Given the description of an element on the screen output the (x, y) to click on. 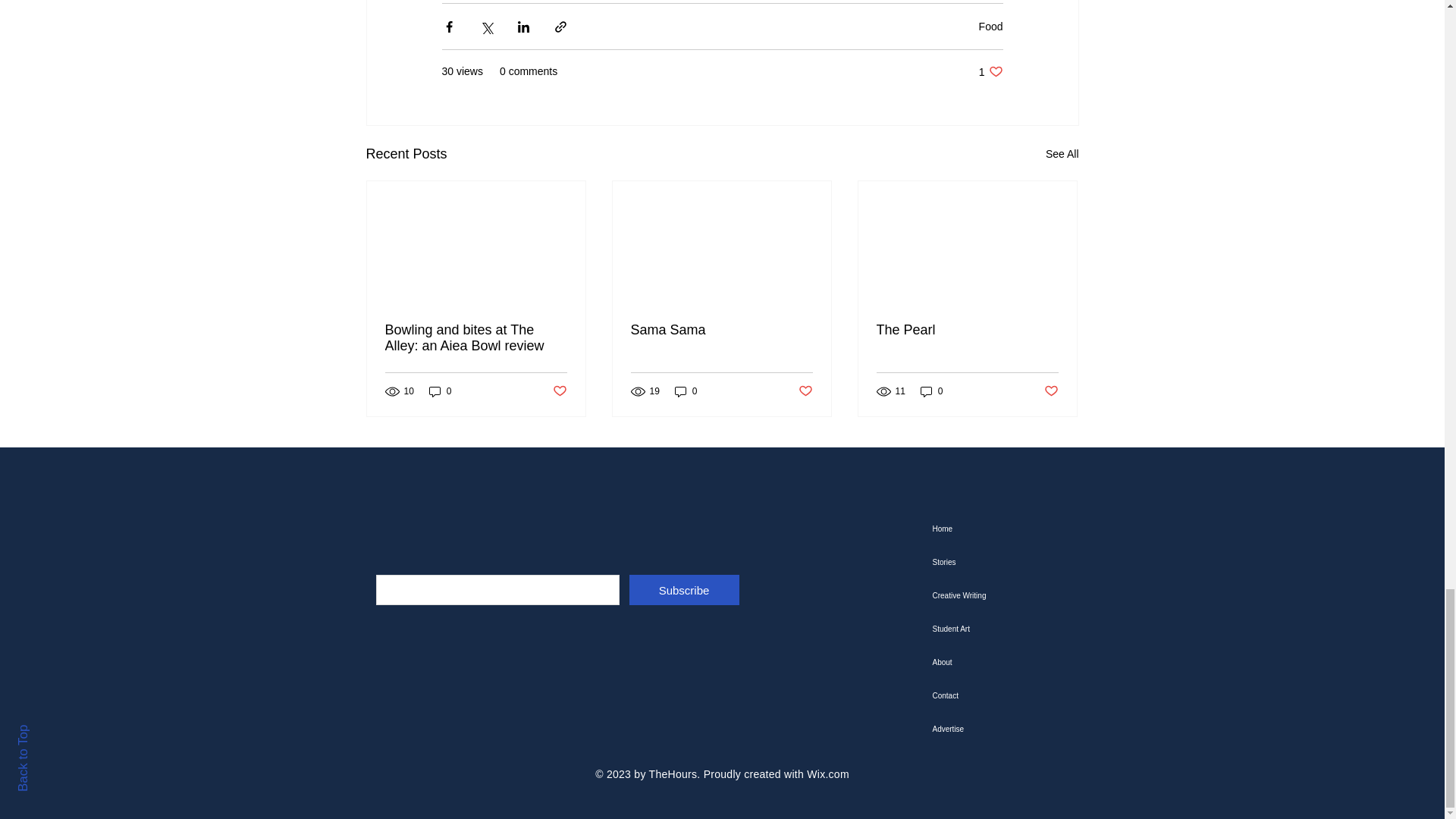
Sama Sama (721, 330)
0 (685, 391)
0 (440, 391)
Bowling and bites at The Alley: an Aiea Bowl review (990, 71)
Food (476, 337)
See All (990, 26)
Post not marked as liked (1061, 154)
